Given the description of an element on the screen output the (x, y) to click on. 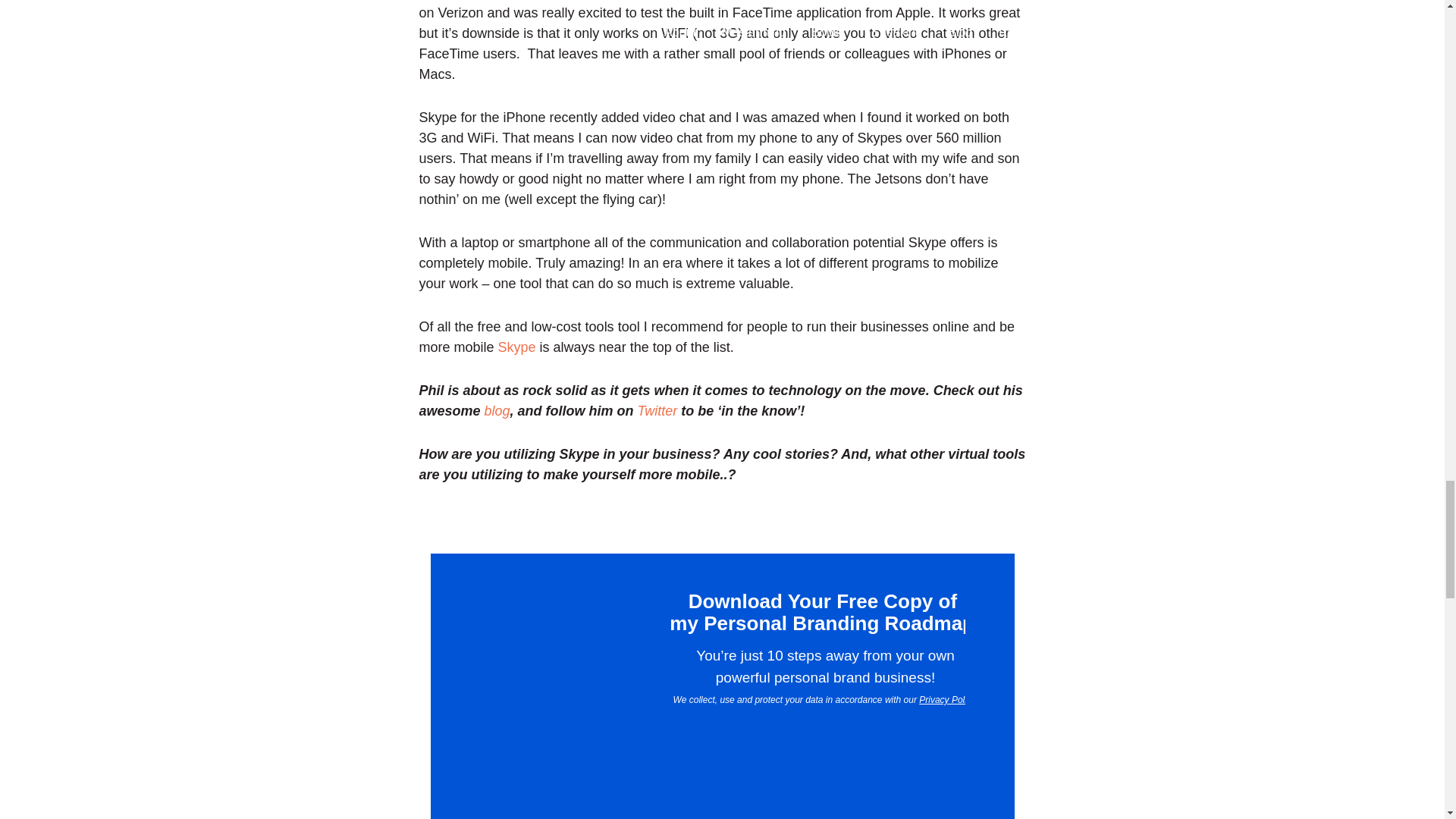
Skype (516, 346)
Privacy Policy. (947, 699)
Twitter (657, 410)
blog (497, 410)
